Given the description of an element on the screen output the (x, y) to click on. 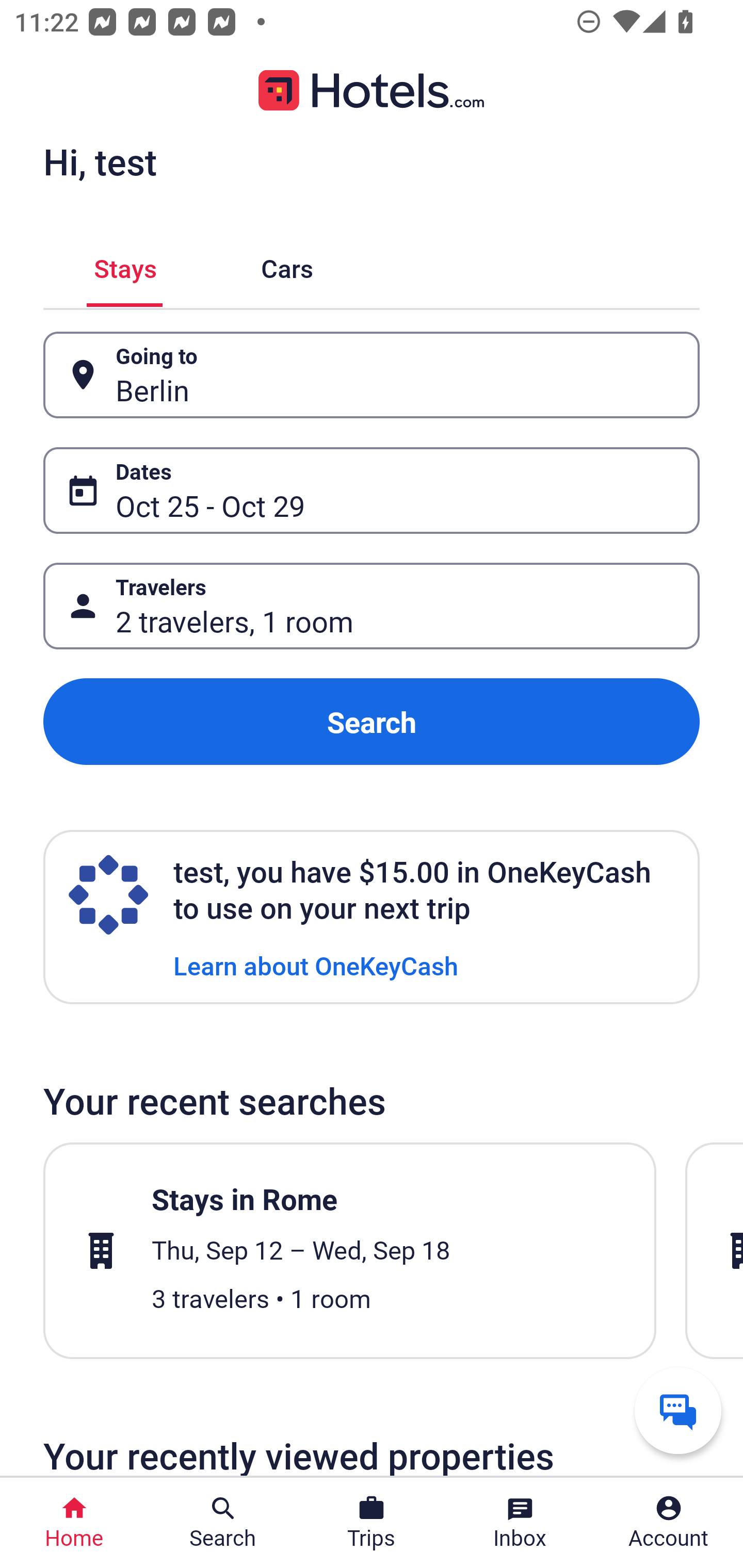
Hi, test (99, 161)
Cars (286, 265)
Going to Button Berlin (371, 375)
Dates Button Oct 25 - Oct 29 (371, 489)
Travelers Button 2 travelers, 1 room (371, 605)
Search (371, 721)
Learn about OneKeyCash Learn about OneKeyCash Link (315, 964)
Get help from a virtual agent (677, 1410)
Search Search Button (222, 1522)
Trips Trips Button (371, 1522)
Inbox Inbox Button (519, 1522)
Account Profile. Button (668, 1522)
